Given the description of an element on the screen output the (x, y) to click on. 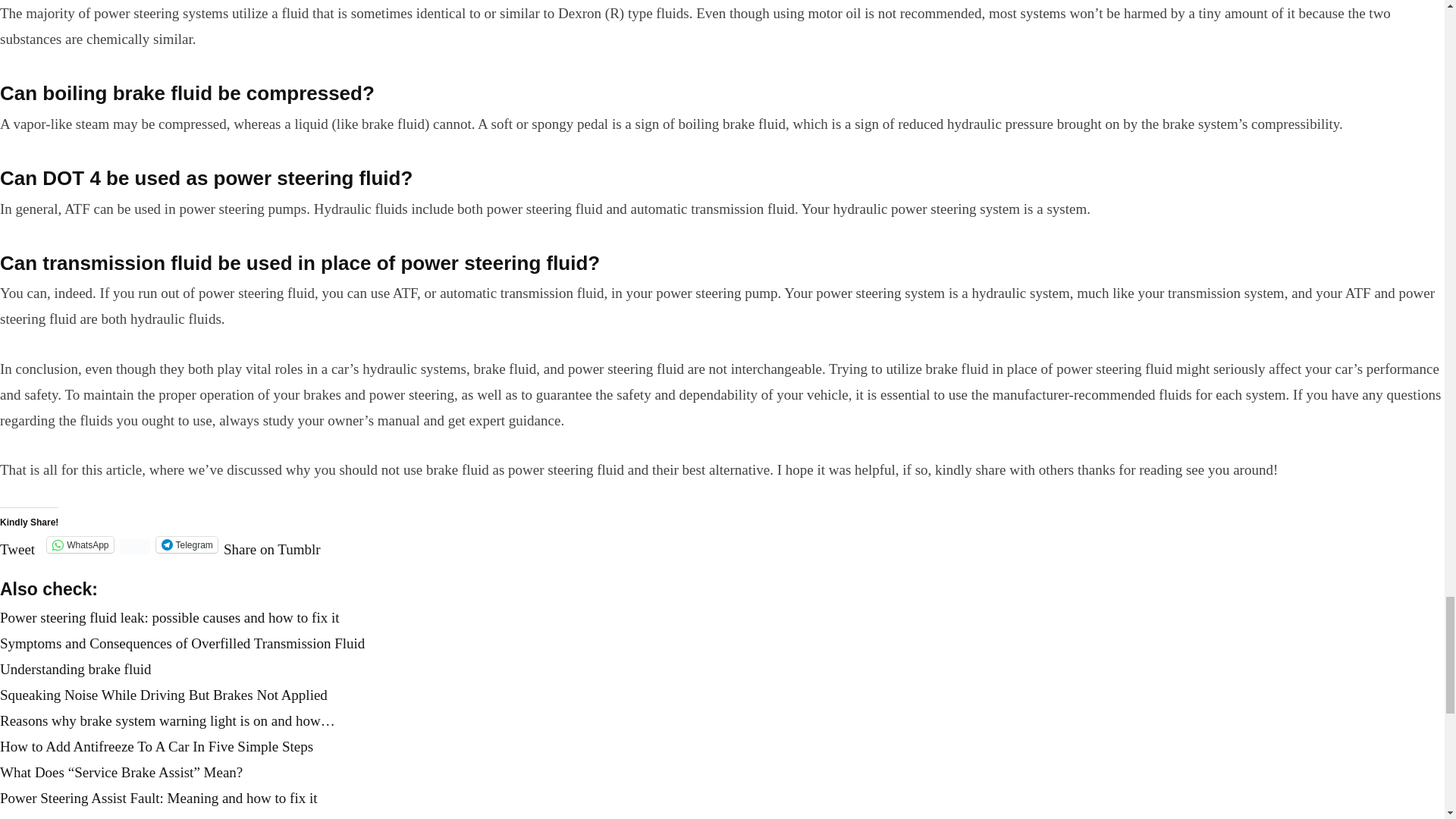
Squeaking Noise While Driving But Brakes Not Applied (163, 694)
How to Add Antifreeze To A Car In Five Simple Steps (156, 746)
Click to share on Telegram (185, 544)
Telegram (185, 544)
Click to share on WhatsApp (79, 544)
Symptoms and Consequences of Overfilled Transmission Fluid (182, 643)
Tweet (17, 543)
Power Steering Assist Fault: Meaning and how to fix it (158, 797)
Share on Tumblr (272, 543)
Power steering fluid leak: possible causes and how to fix it (169, 617)
Understanding brake fluid (75, 668)
WhatsApp (79, 544)
Share on Tumblr (272, 543)
